Given the description of an element on the screen output the (x, y) to click on. 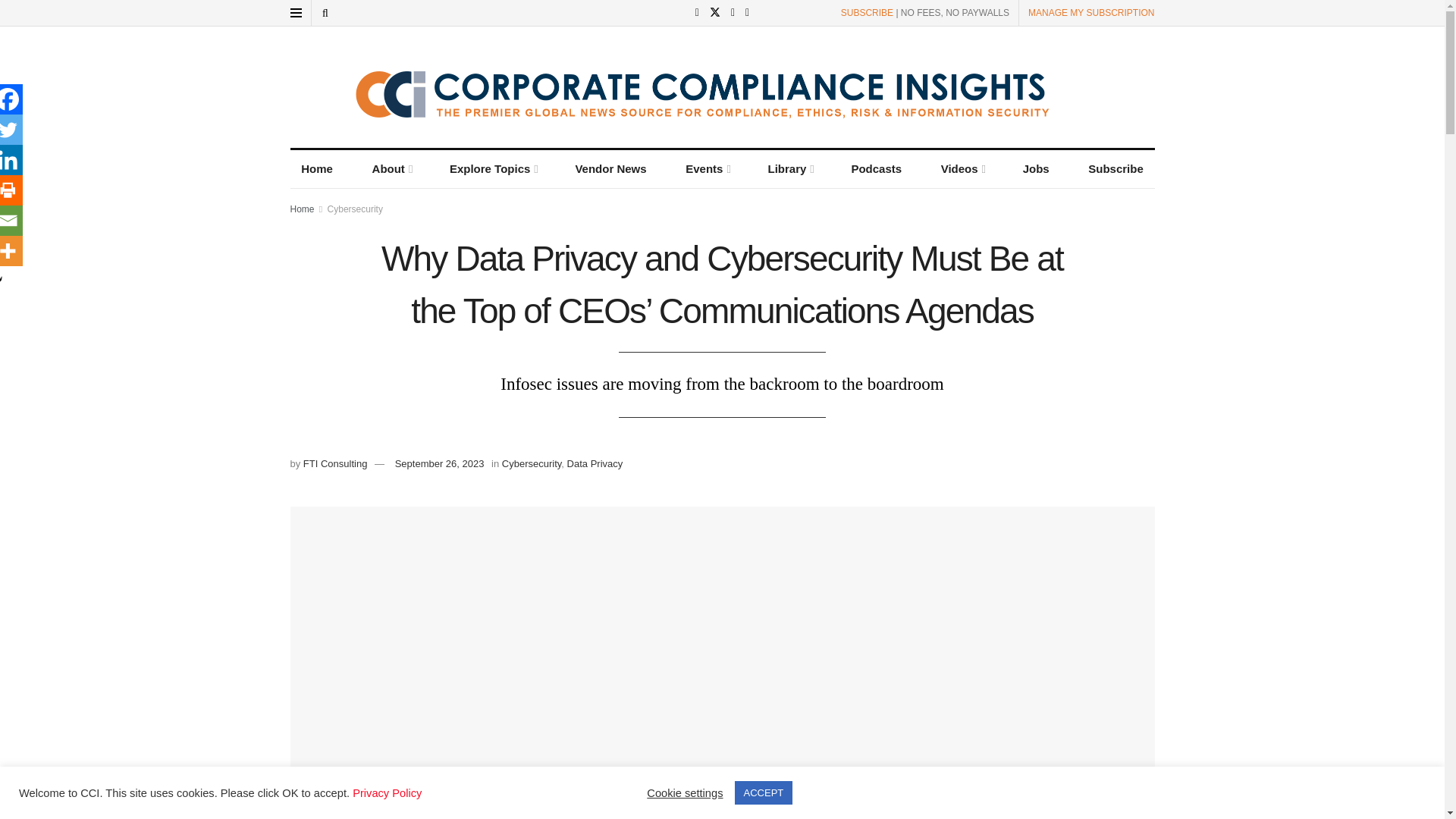
Vendor News (611, 168)
Home (316, 168)
Events (706, 168)
MANAGE MY SUBSCRIPTION (1090, 12)
SUBSCRIBE (867, 12)
Explore Topics (492, 168)
Library (790, 168)
About (391, 168)
